Given the description of an element on the screen output the (x, y) to click on. 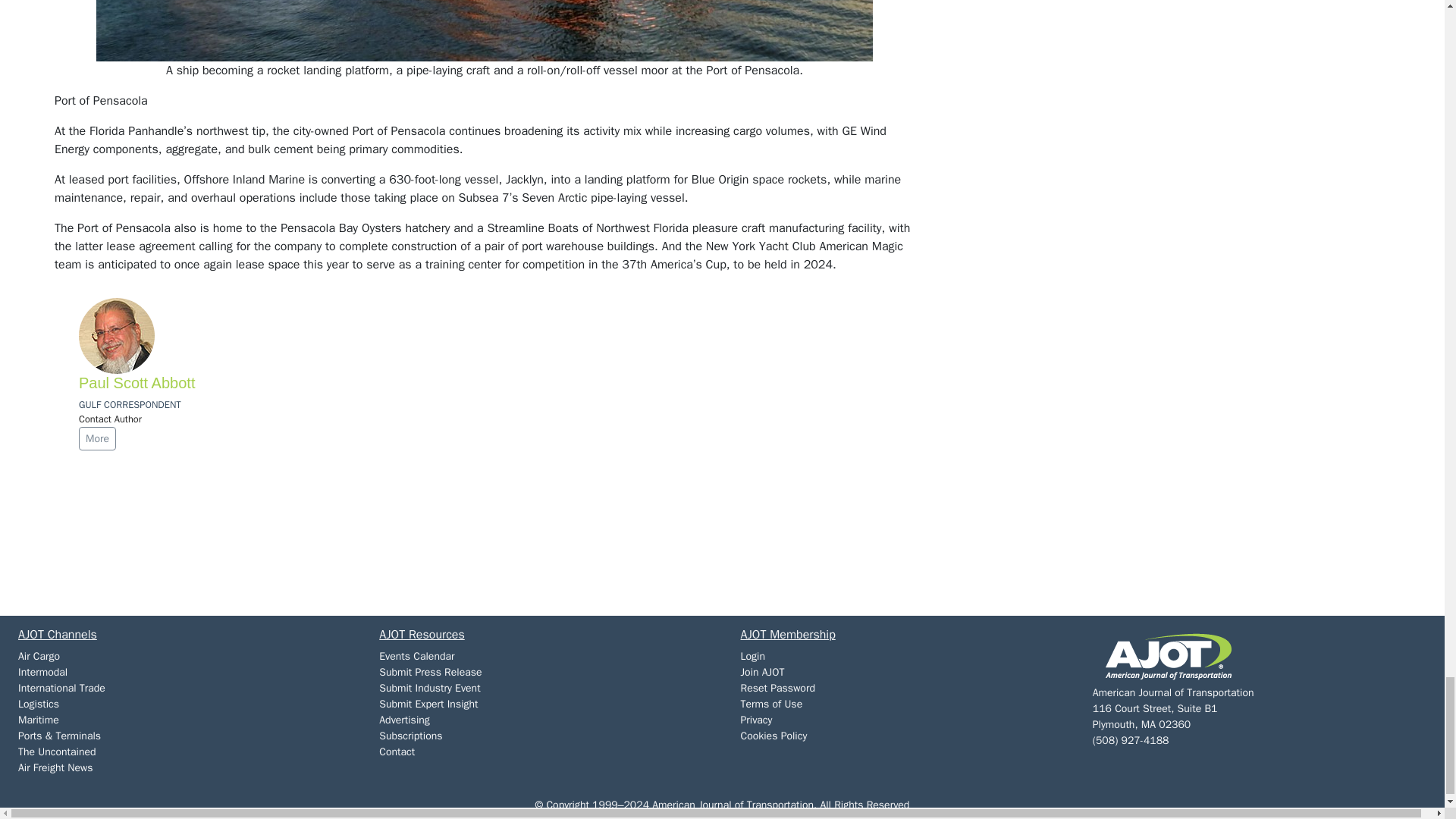
Visit Air Freight News (55, 767)
More (97, 438)
Visit The Uncontained (56, 751)
Contact Author (109, 419)
News from the intermodal freight transportation industry. (41, 671)
Maritime transportation, goods, services and regulation news (38, 719)
